Given the description of an element on the screen output the (x, y) to click on. 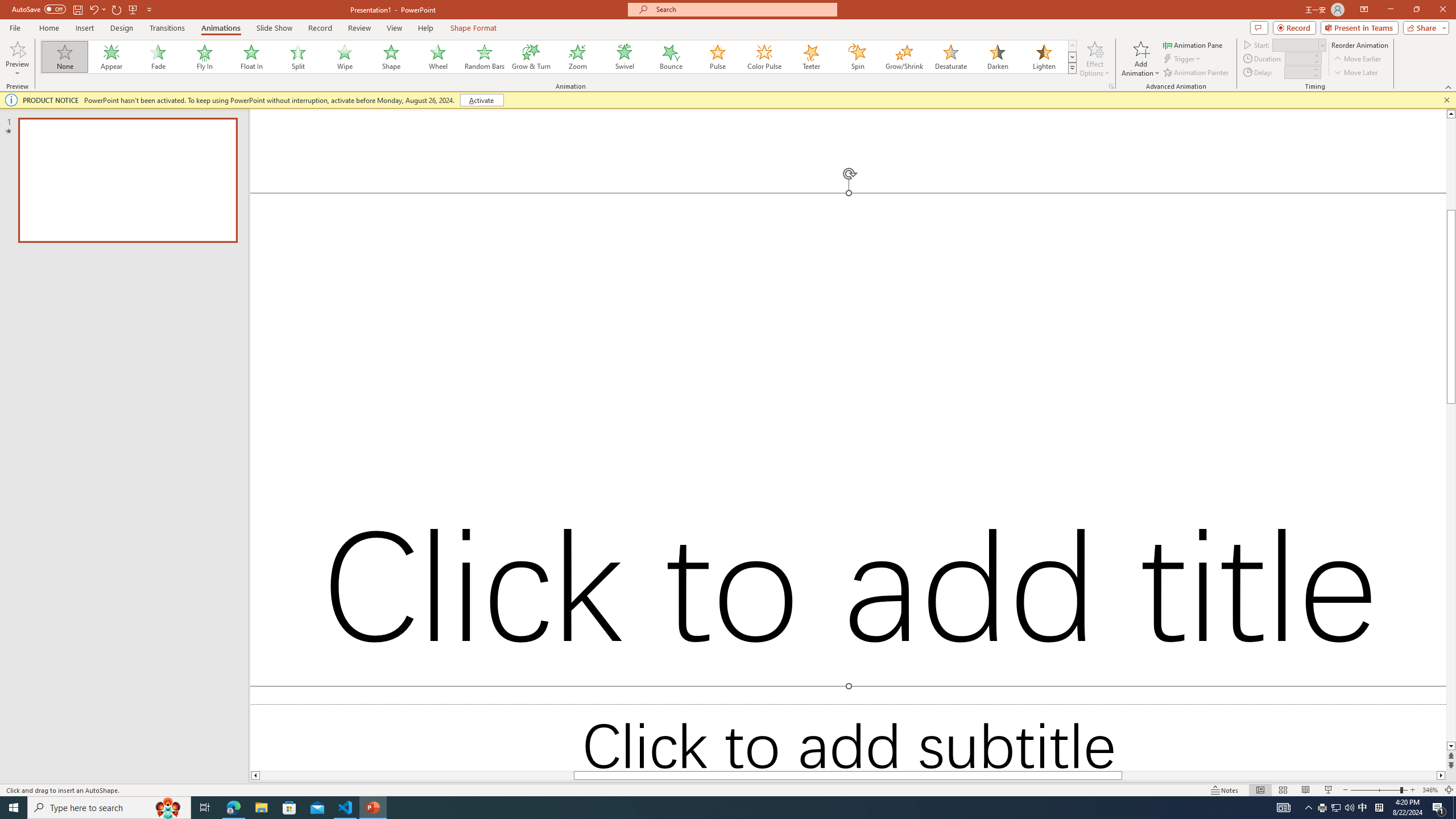
Wheel (437, 56)
Random Bars (484, 56)
AutomationID: AnimationGallery (558, 56)
Color Pulse (764, 56)
